Given the description of an element on the screen output the (x, y) to click on. 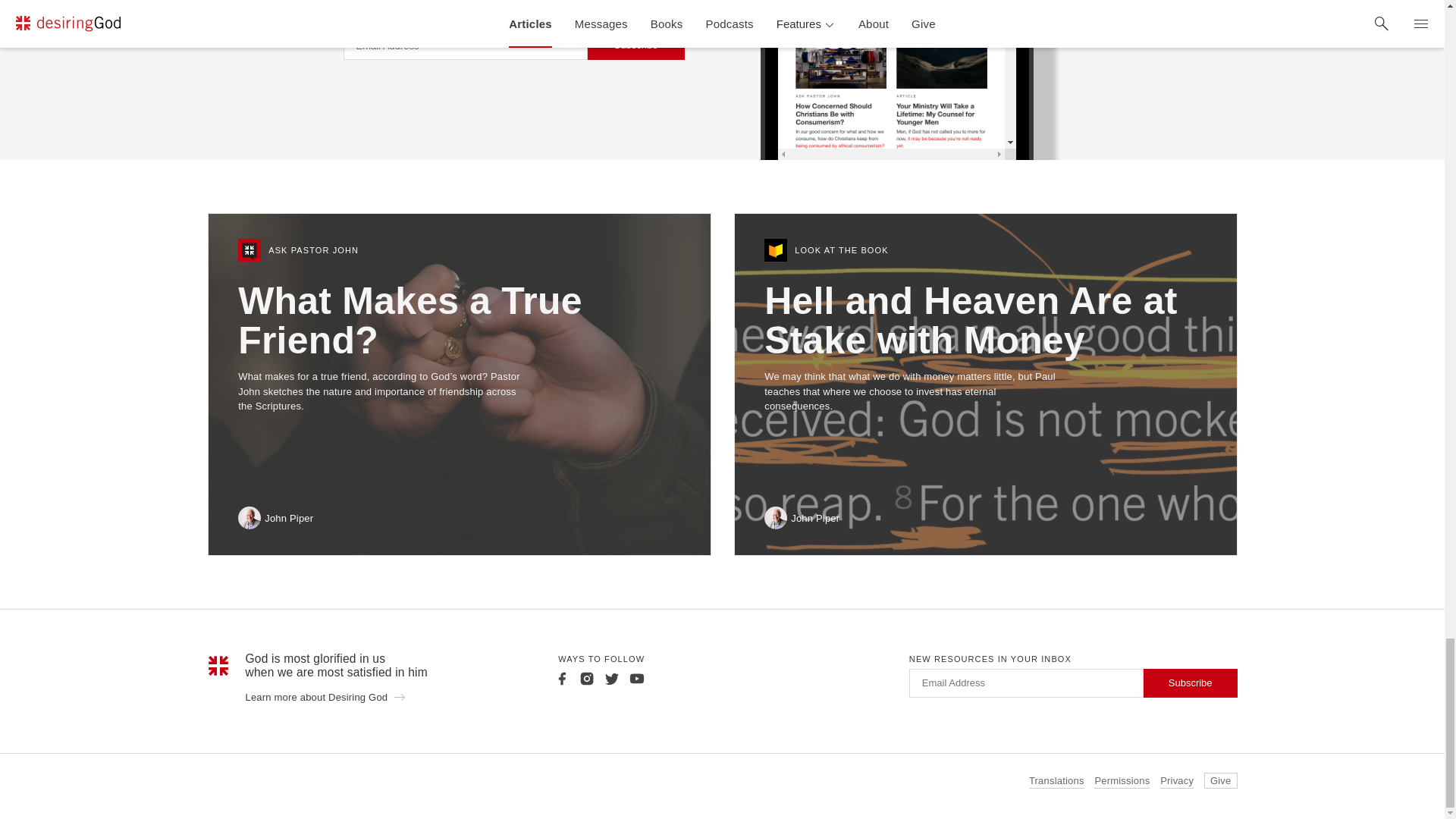
Twitter (612, 678)
Mark - Large (218, 665)
Arrow (399, 696)
